Given the description of an element on the screen output the (x, y) to click on. 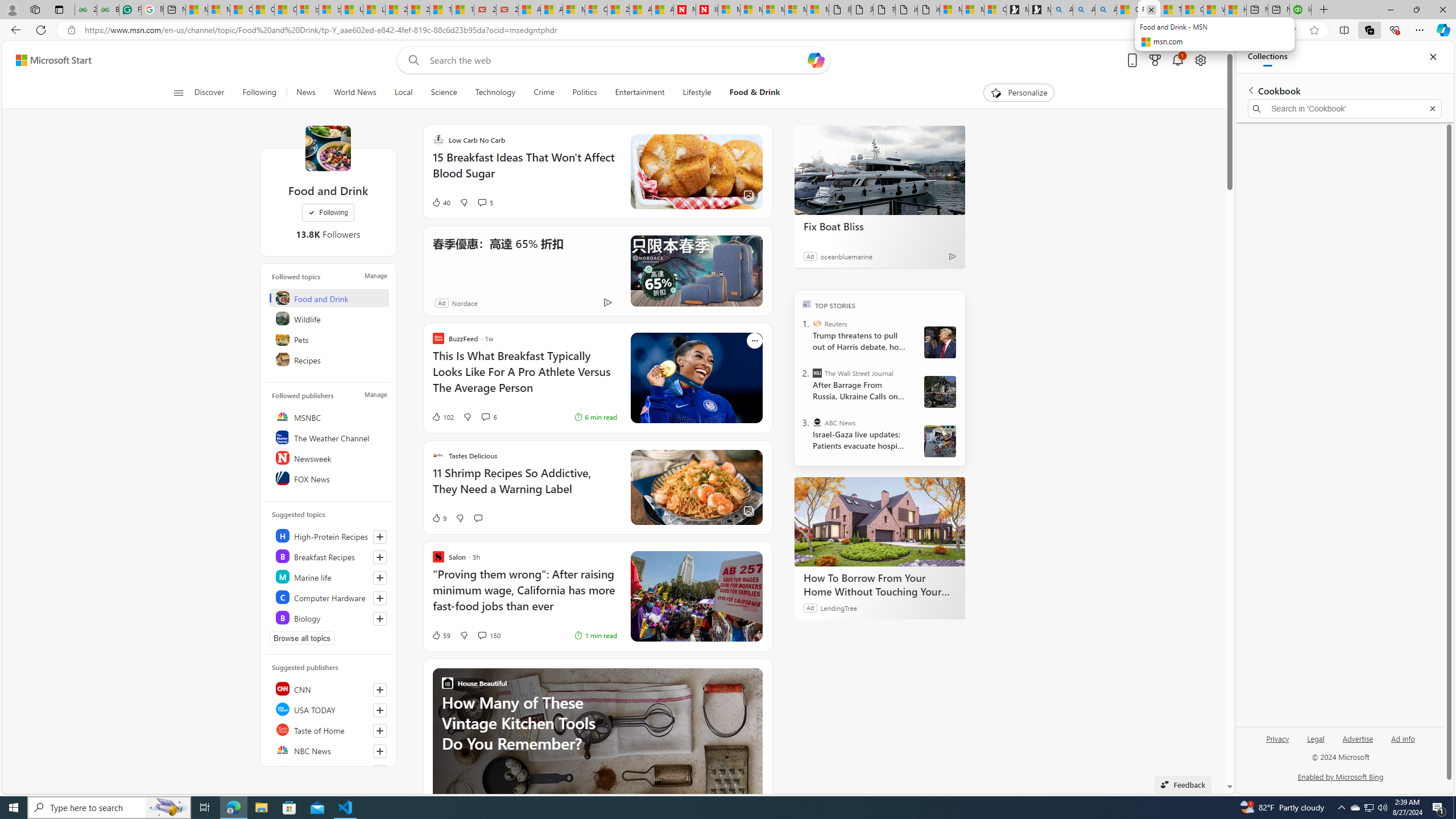
itconcepthk.com/projector_solutions.mp4 (928, 9)
View comments 5 Comment (481, 202)
